Given the description of an element on the screen output the (x, y) to click on. 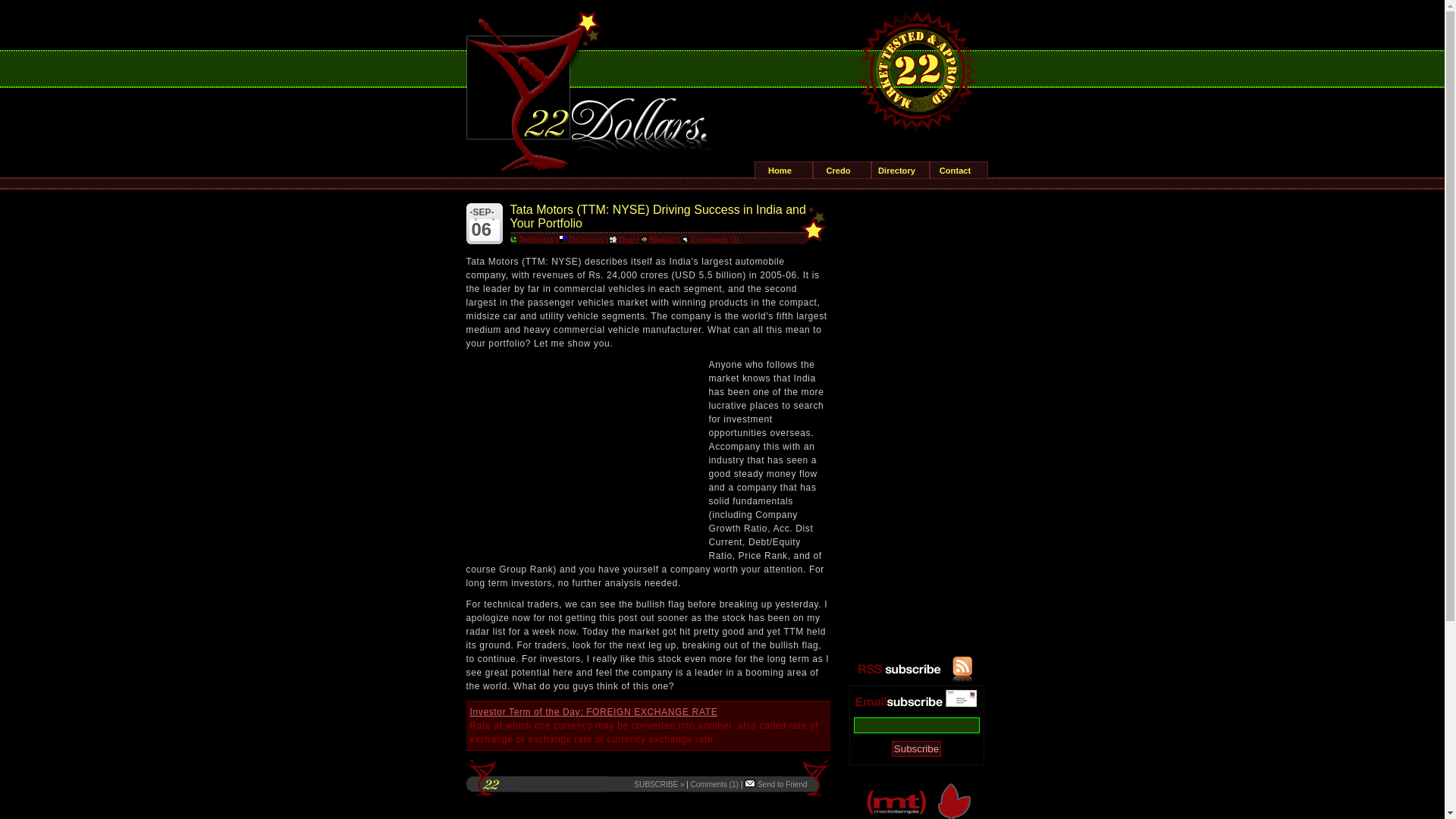
Advertisement Element type: hover (579, 452)
Directory Element type: text (900, 170)
Subscribe Element type: text (916, 748)
Del.icio.us Element type: text (581, 239)
Advertisement Element type: hover (915, 427)
Send to Friend Element type: text (775, 784)
Investor Term of the Day: FOREIGN EXCHANGE RATE Element type: text (594, 711)
Comments (1) Element type: text (714, 784)
Contact Element type: text (957, 170)
Technorati Element type: text (531, 239)
Credo Element type: text (840, 170)
Home Element type: text (783, 170)
Comments (1) Element type: text (710, 239)
Blinklist Element type: text (657, 239)
Digg Element type: text (621, 239)
